Given the description of an element on the screen output the (x, y) to click on. 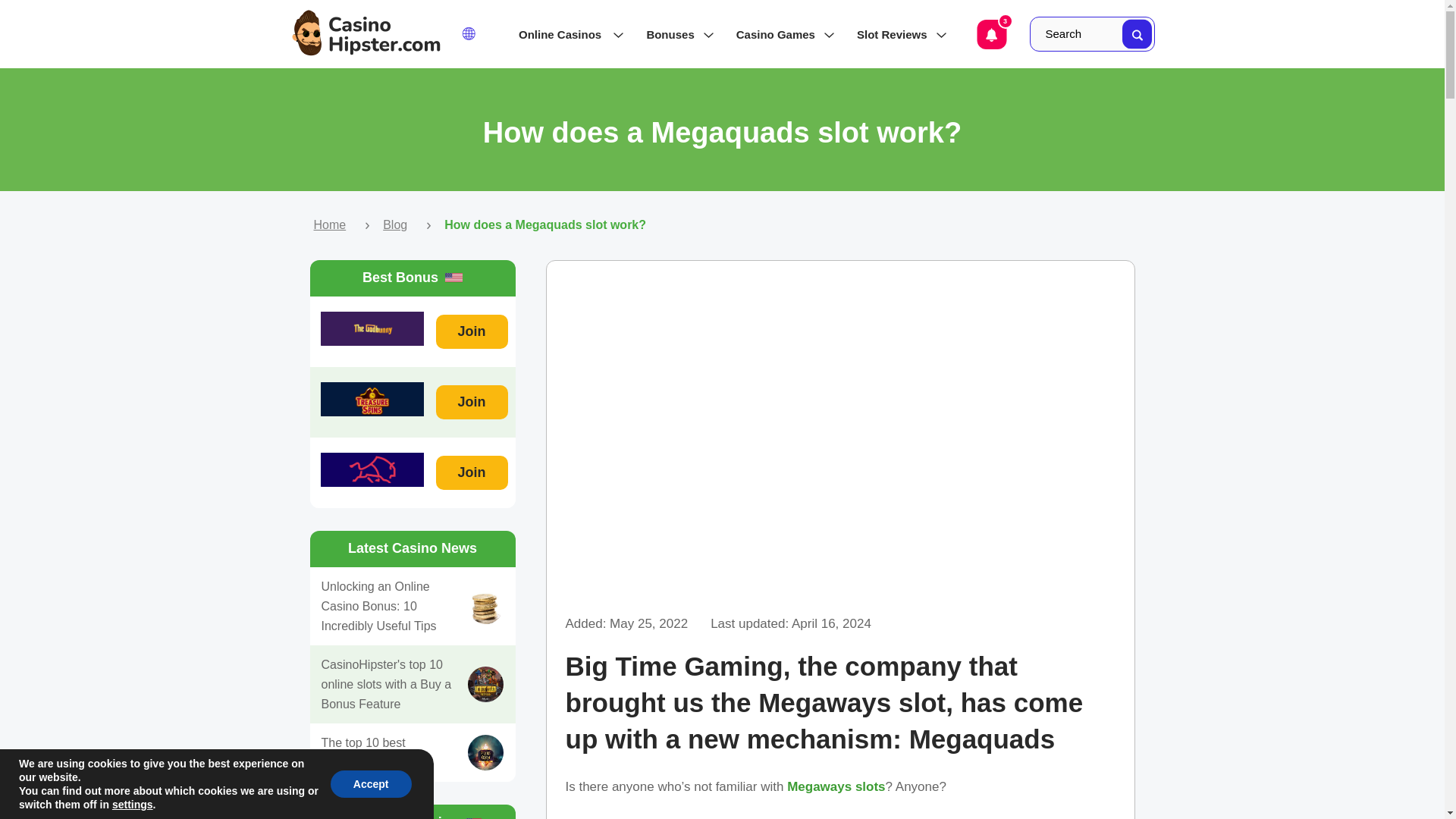
Slot Reviews (897, 34)
GodBunny (371, 328)
Online Casinos  (566, 34)
Bonuses (675, 34)
Treasure Spins (371, 399)
Buffalo (371, 469)
Casino Games (780, 34)
